Given the description of an element on the screen output the (x, y) to click on. 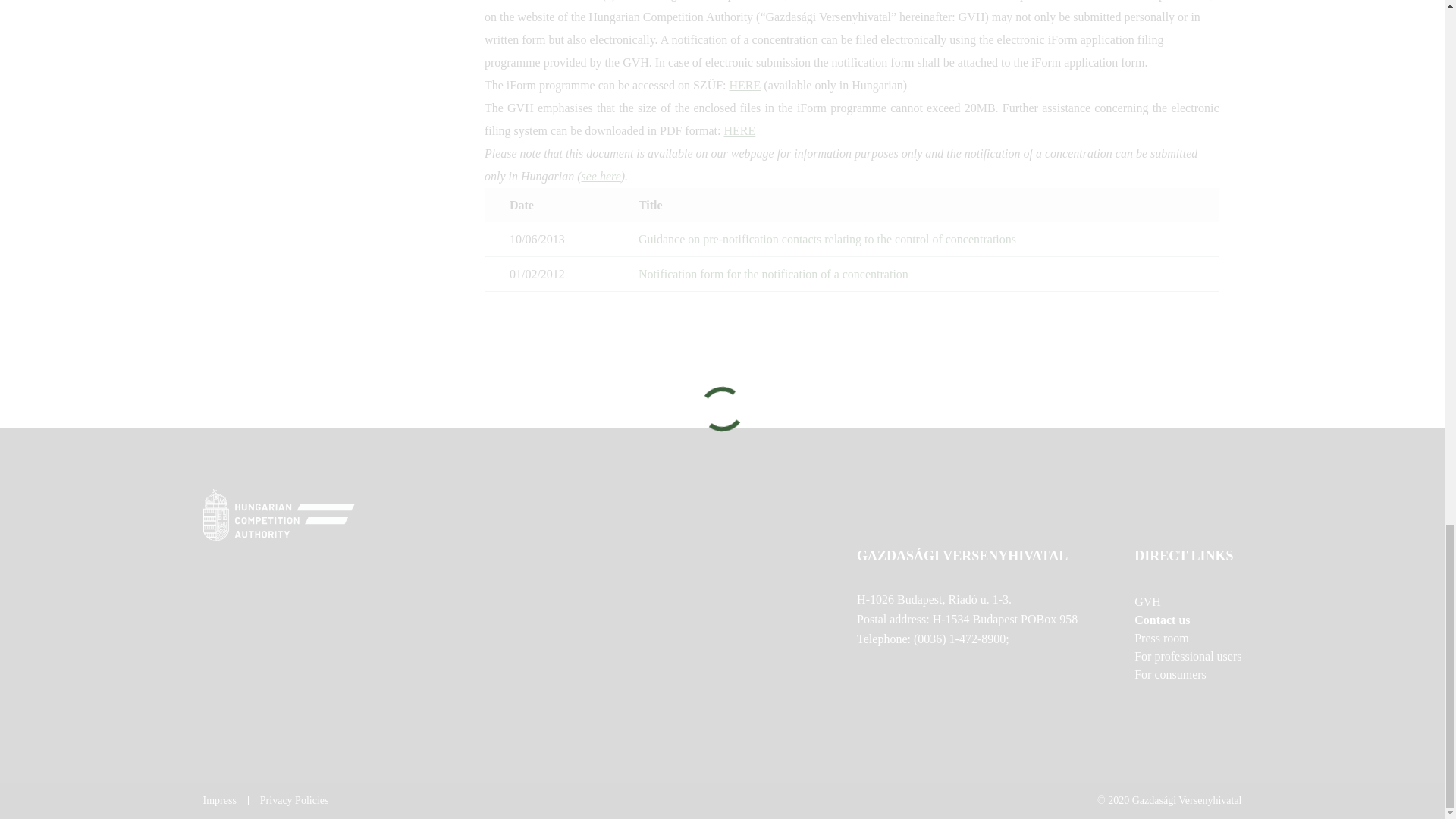
Impress (219, 800)
Hungarian Competition Authority (722, 517)
Jump to mainpage (279, 514)
Privacy Policies (294, 800)
